Given the description of an element on the screen output the (x, y) to click on. 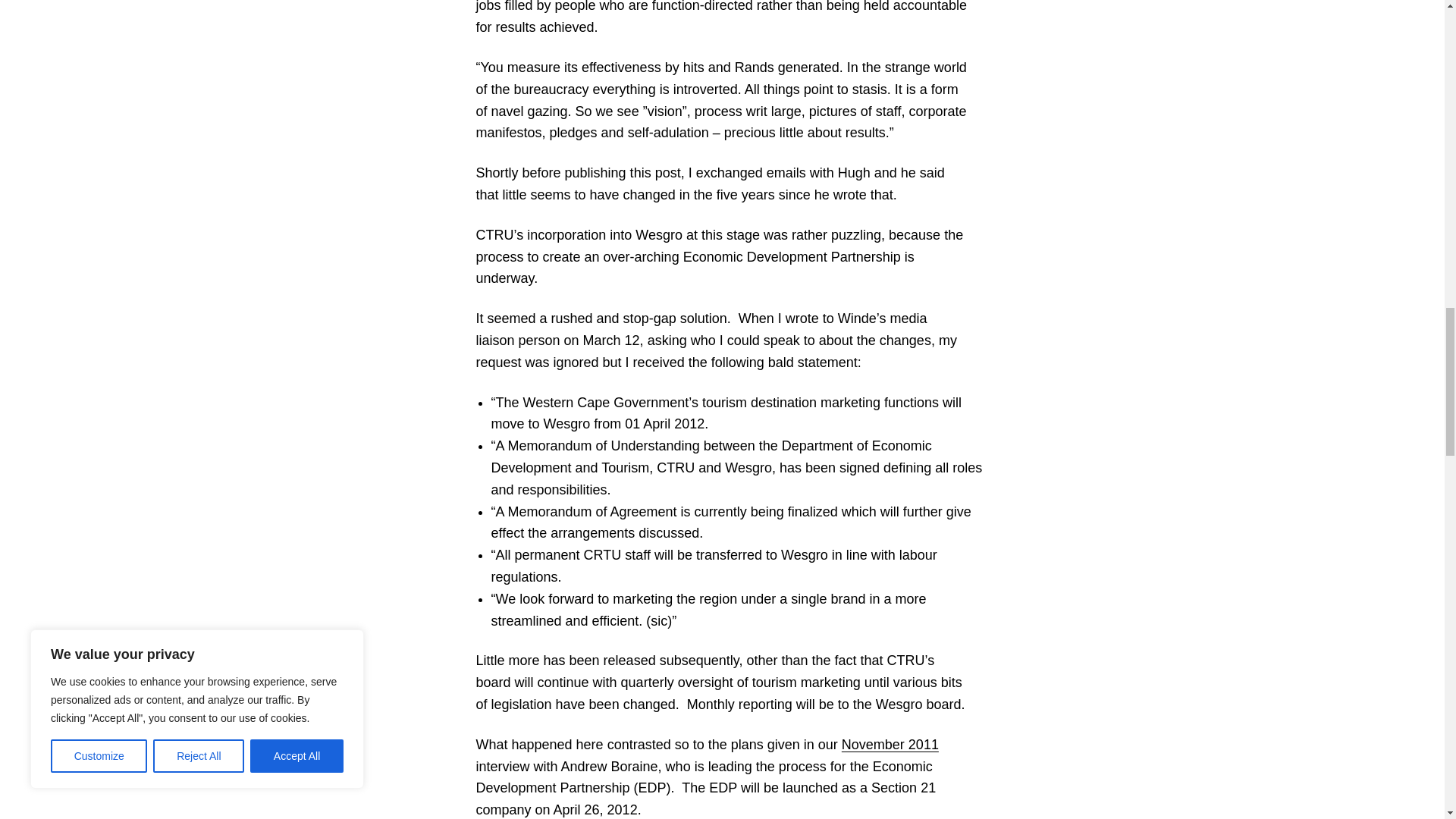
November 2011 (890, 744)
Andrew Boraine interview (890, 744)
